Given the description of an element on the screen output the (x, y) to click on. 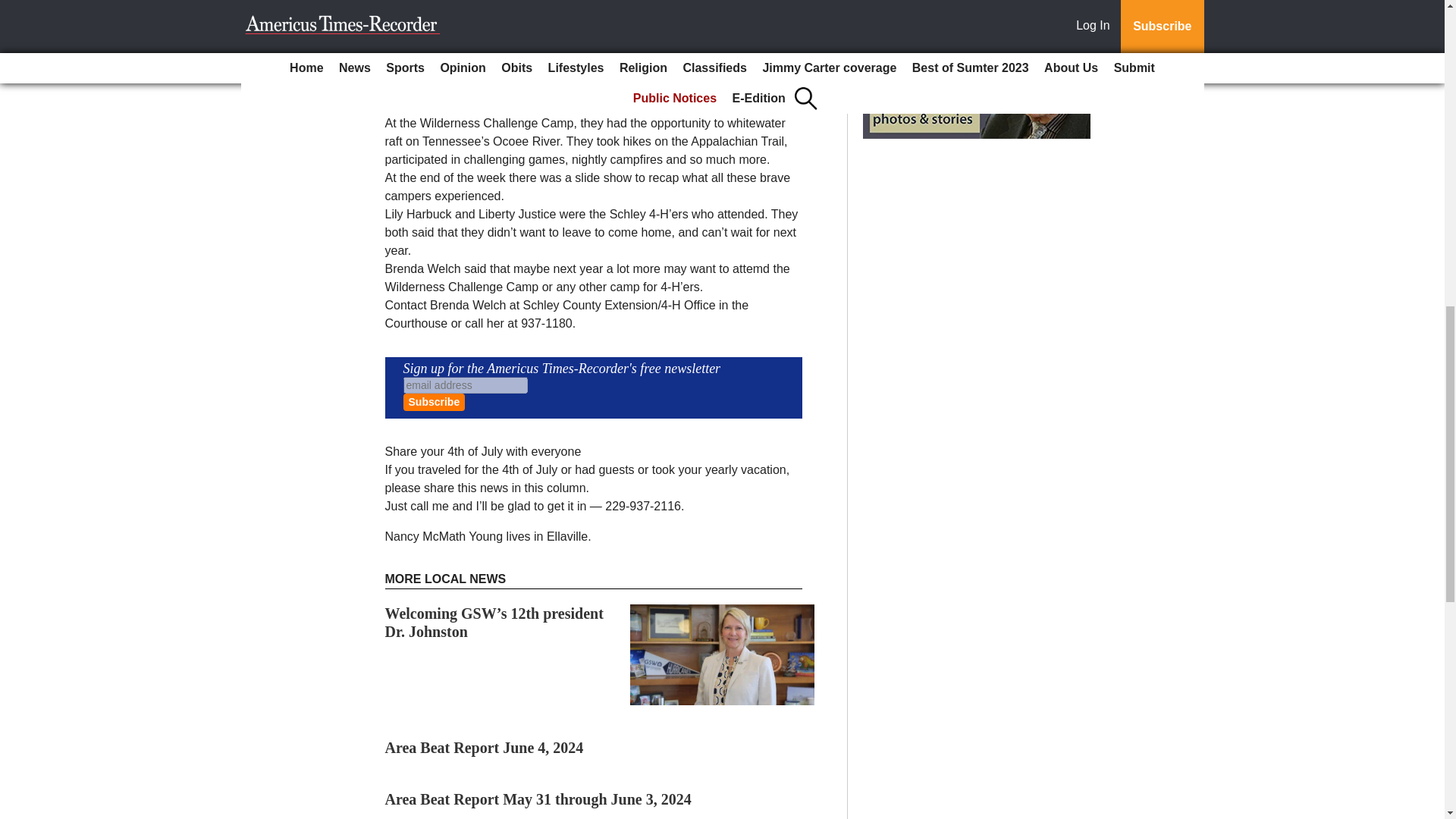
Area Beat Report May 31 through June 3, 2024 (538, 799)
Subscribe (434, 402)
Subscribe (434, 402)
Area Beat Report June 4, 2024 (484, 747)
Area Beat Report May 31 through June 3, 2024 (538, 799)
Area Beat Report June 4, 2024 (484, 747)
